Given the description of an element on the screen output the (x, y) to click on. 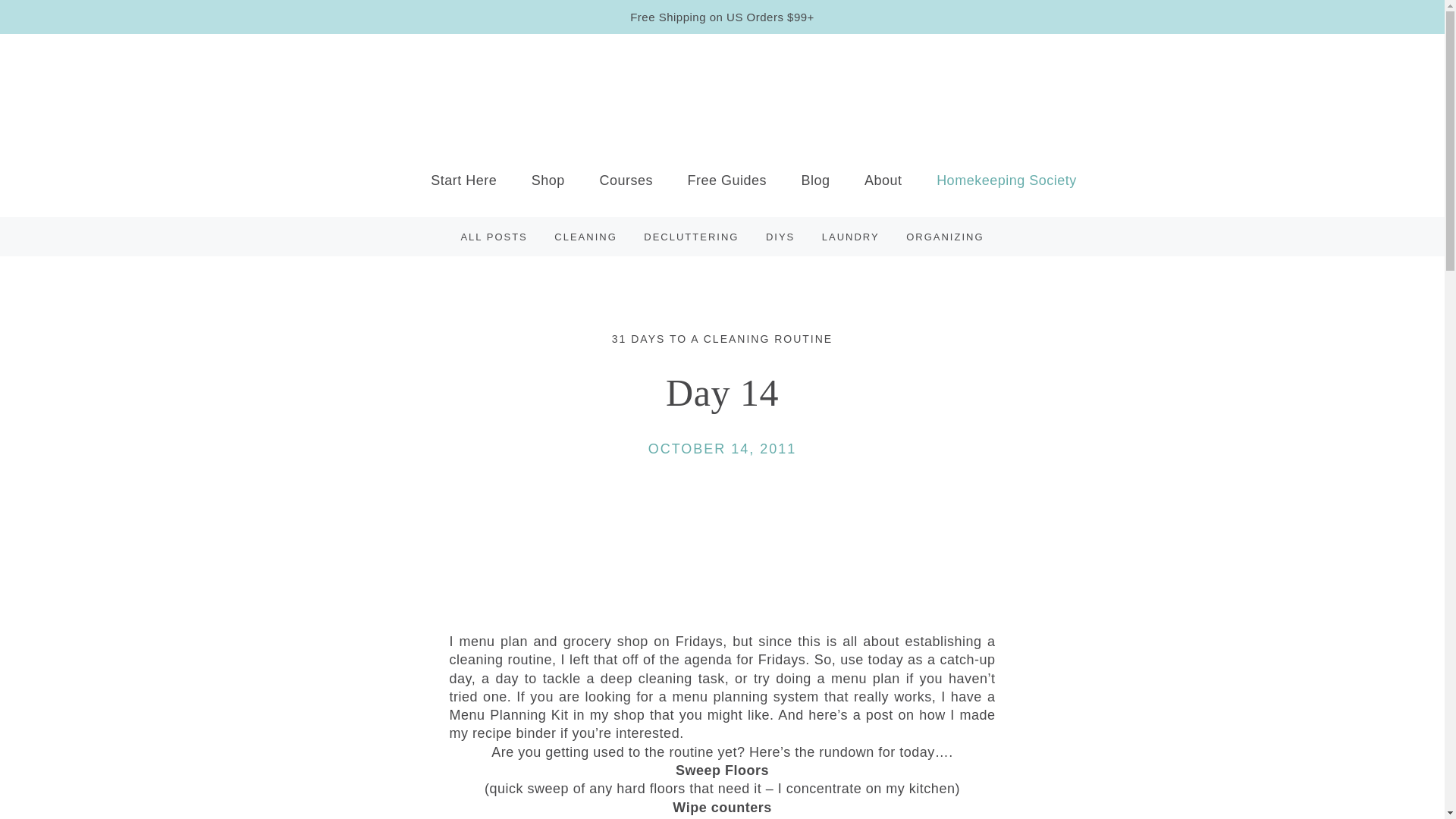
Free Guides (726, 180)
Start Here (463, 180)
Shop (547, 180)
Courses (625, 180)
Homekeeping Society (1006, 185)
Blog (815, 180)
About (882, 180)
